Given the description of an element on the screen output the (x, y) to click on. 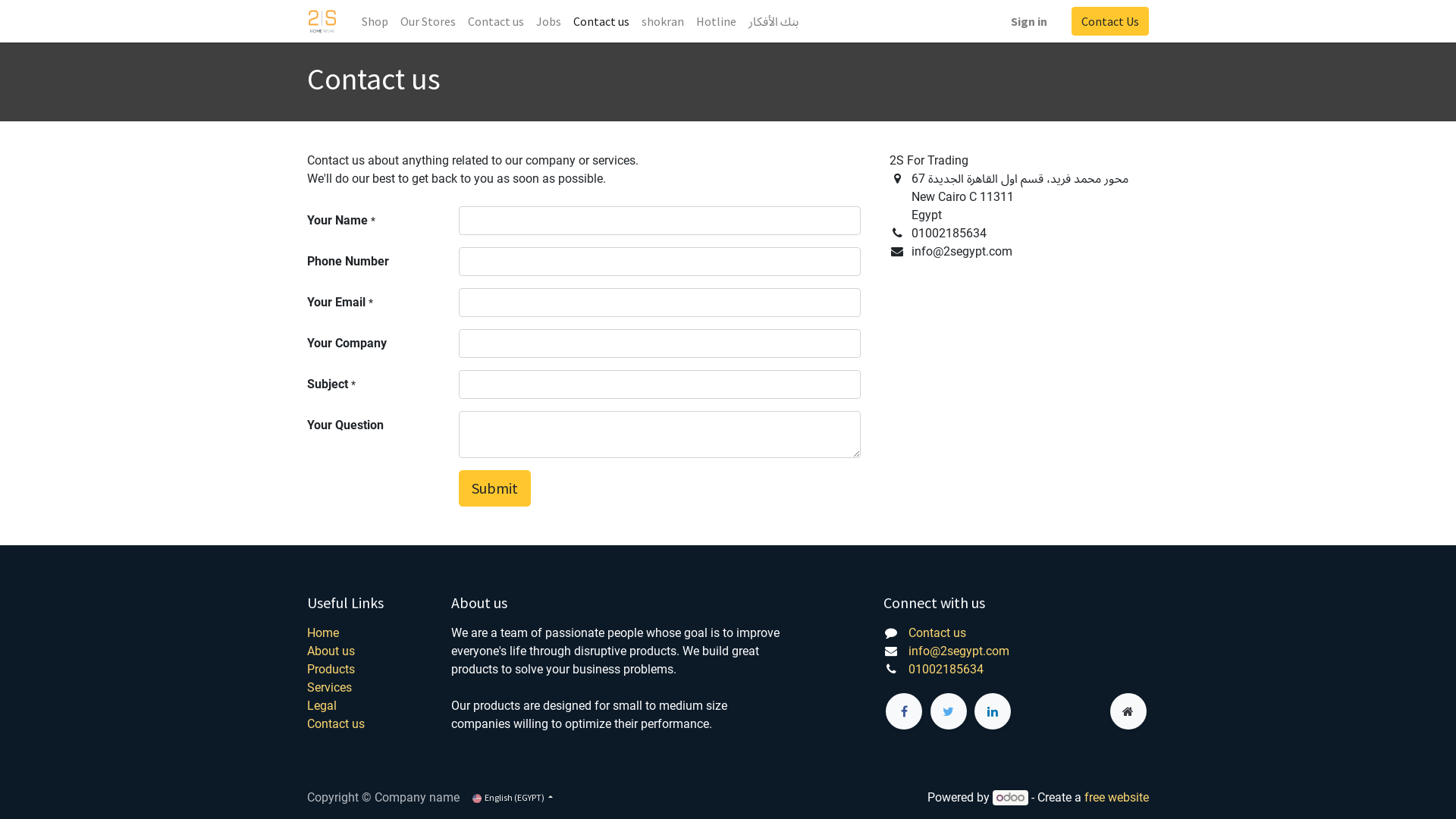
shokran Element type: text (662, 21)
Contact Us Element type: text (1109, 20)
Legal Element type: text (321, 705)
Submit Element type: text (494, 488)
Contact us Element type: text (937, 632)
About us Element type: text (330, 650)
Contact us Element type: text (335, 723)
free website Element type: text (1116, 797)
Services Element type: text (329, 687)
Shop Element type: text (374, 21)
Contact us Element type: text (495, 21)
English (EGYPT) Element type: text (512, 797)
Contact us Element type: text (601, 21)
01002185634 Element type: text (945, 669)
Jobs Element type: text (548, 21)
Hotline Element type: text (716, 21)
Home Element type: text (322, 632)
Products Element type: text (330, 669)
Our Stores Element type: text (427, 21)
Sign in Element type: text (1028, 21)
2S Home Wear Element type: hover (322, 21)
info@2segypt.com Element type: text (958, 650)
